Given the description of an element on the screen output the (x, y) to click on. 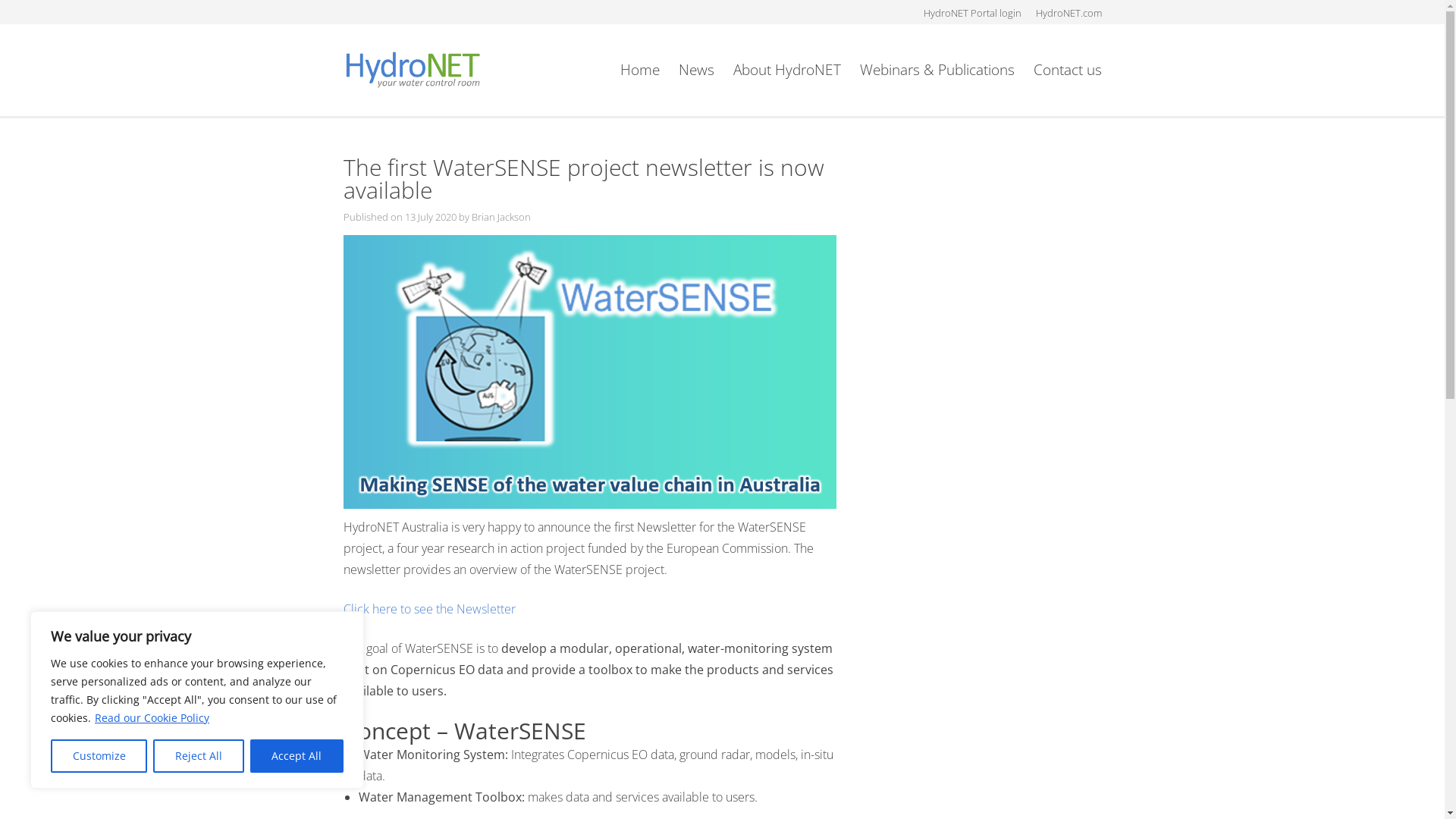
HydroNET Portal login Element type: text (972, 12)
About HydroNET Element type: text (786, 69)
Webinars & Publications Element type: text (936, 69)
Contact us Element type: text (1066, 69)
Click here to see the Newsletter Element type: text (428, 608)
Read our Cookie Policy Element type: text (152, 717)
Home Element type: text (639, 69)
Accept All Element type: text (296, 755)
Reject All Element type: text (198, 755)
Customize Element type: text (98, 755)
HydroNET.com Element type: text (1068, 12)
News Element type: text (695, 69)
